Given the description of an element on the screen output the (x, y) to click on. 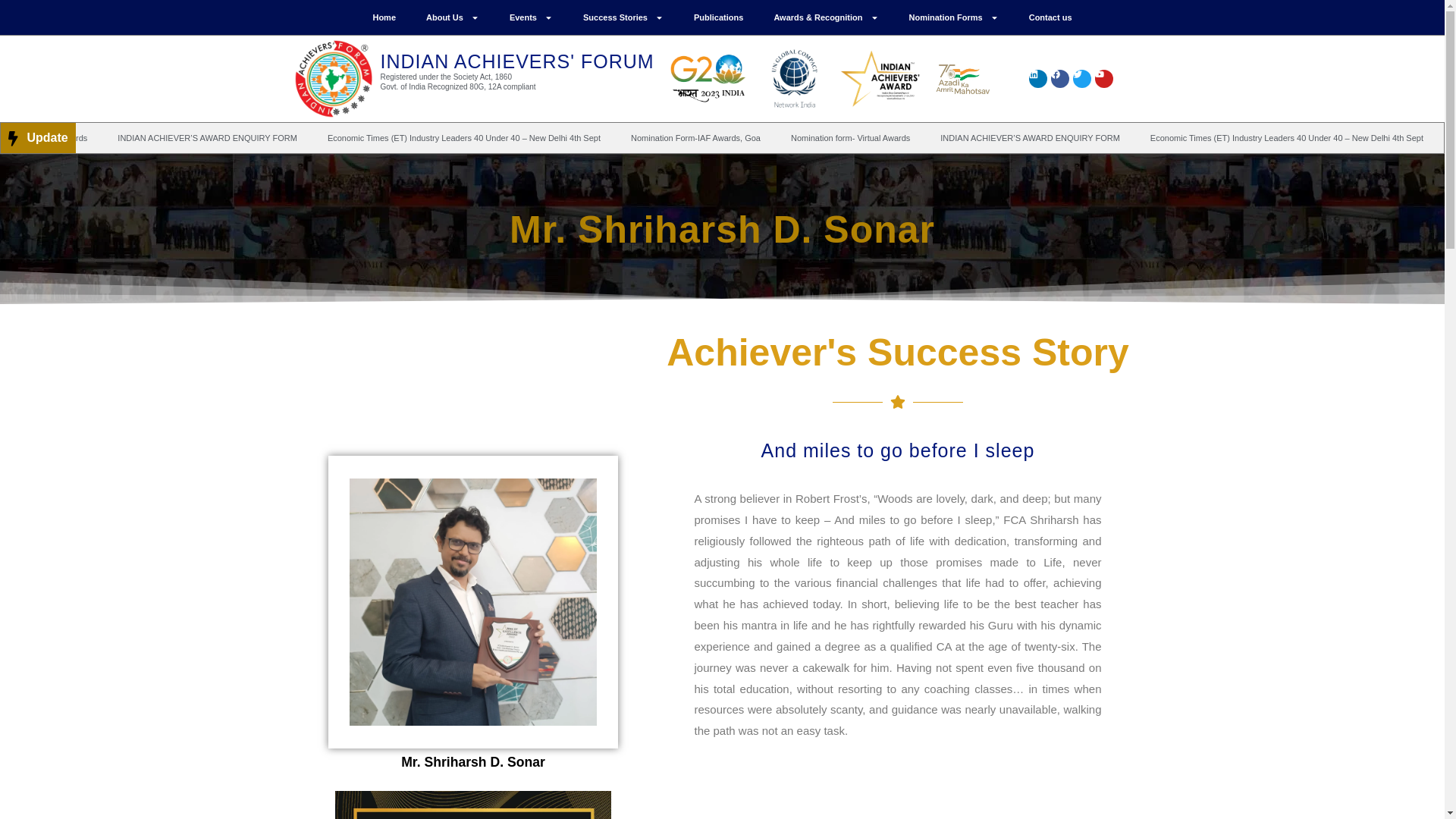
Success Stories (622, 17)
Contact us (1050, 17)
Publications (718, 17)
Home (383, 17)
Nomination Forms (953, 17)
Events (531, 17)
About Us (452, 17)
